Given the description of an element on the screen output the (x, y) to click on. 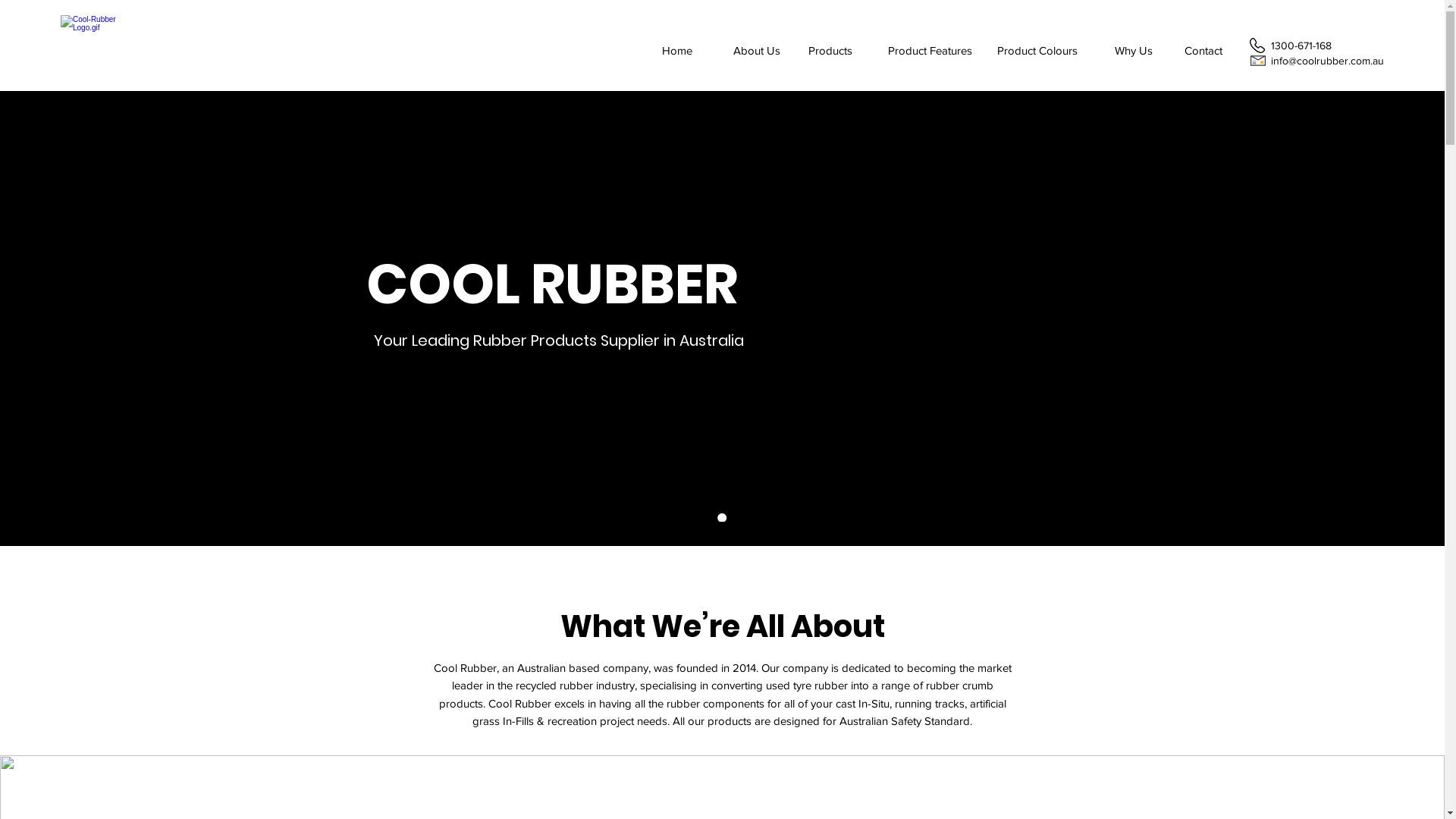
Home Element type: text (677, 50)
Why Us Element type: text (1133, 50)
Products Element type: text (830, 50)
Product Colours Element type: text (1037, 50)
About Us Element type: text (756, 50)
info@coolrubber.com.au Element type: text (1326, 60)
Product Features Element type: text (929, 50)
Contact Element type: text (1203, 50)
